Given the description of an element on the screen output the (x, y) to click on. 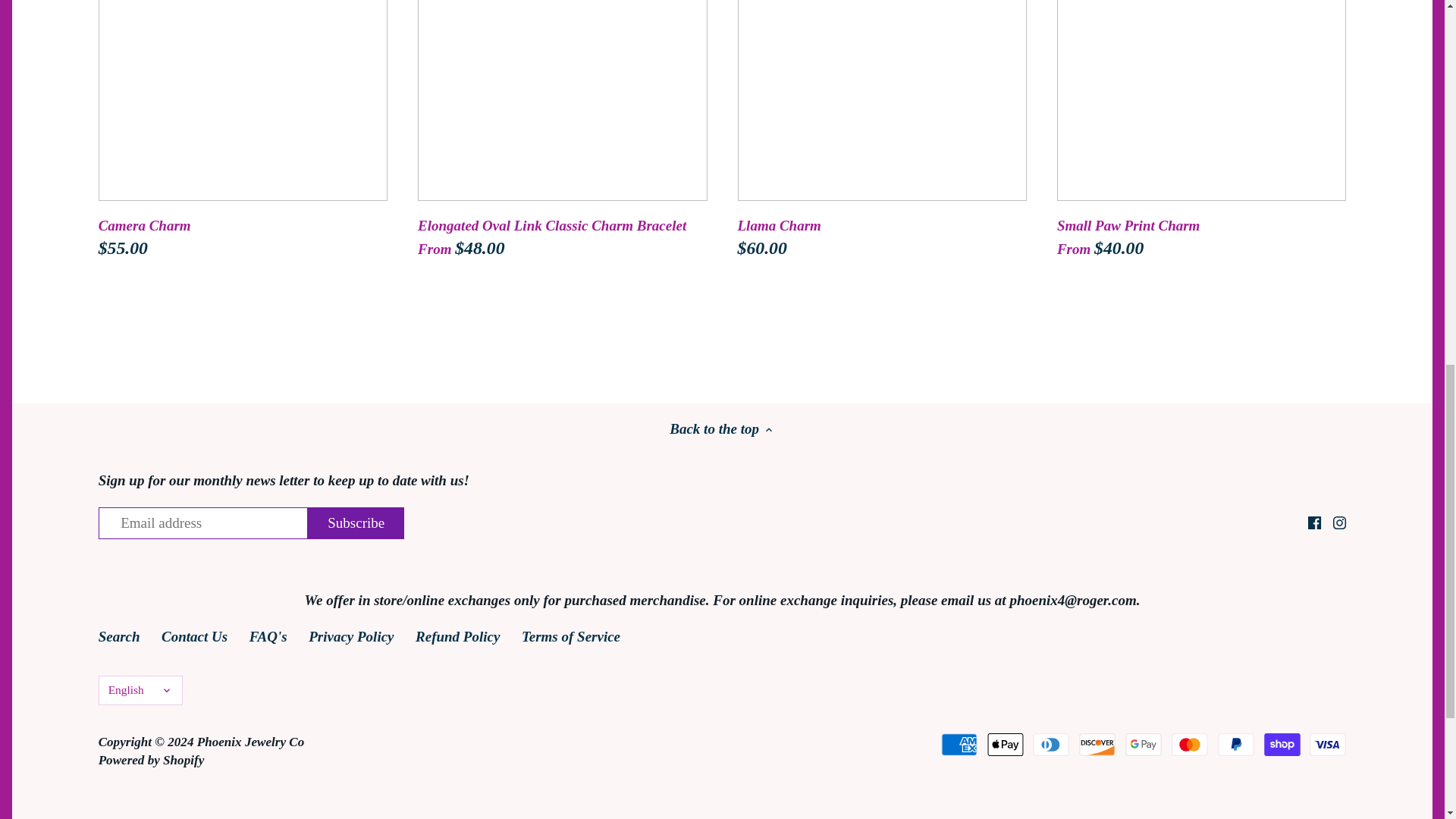
Instagram (1339, 522)
American Express (958, 744)
Discover (1096, 744)
Subscribe (355, 522)
Facebook (1313, 522)
Apple Pay (1005, 744)
Diners Club (1050, 744)
